Given the description of an element on the screen output the (x, y) to click on. 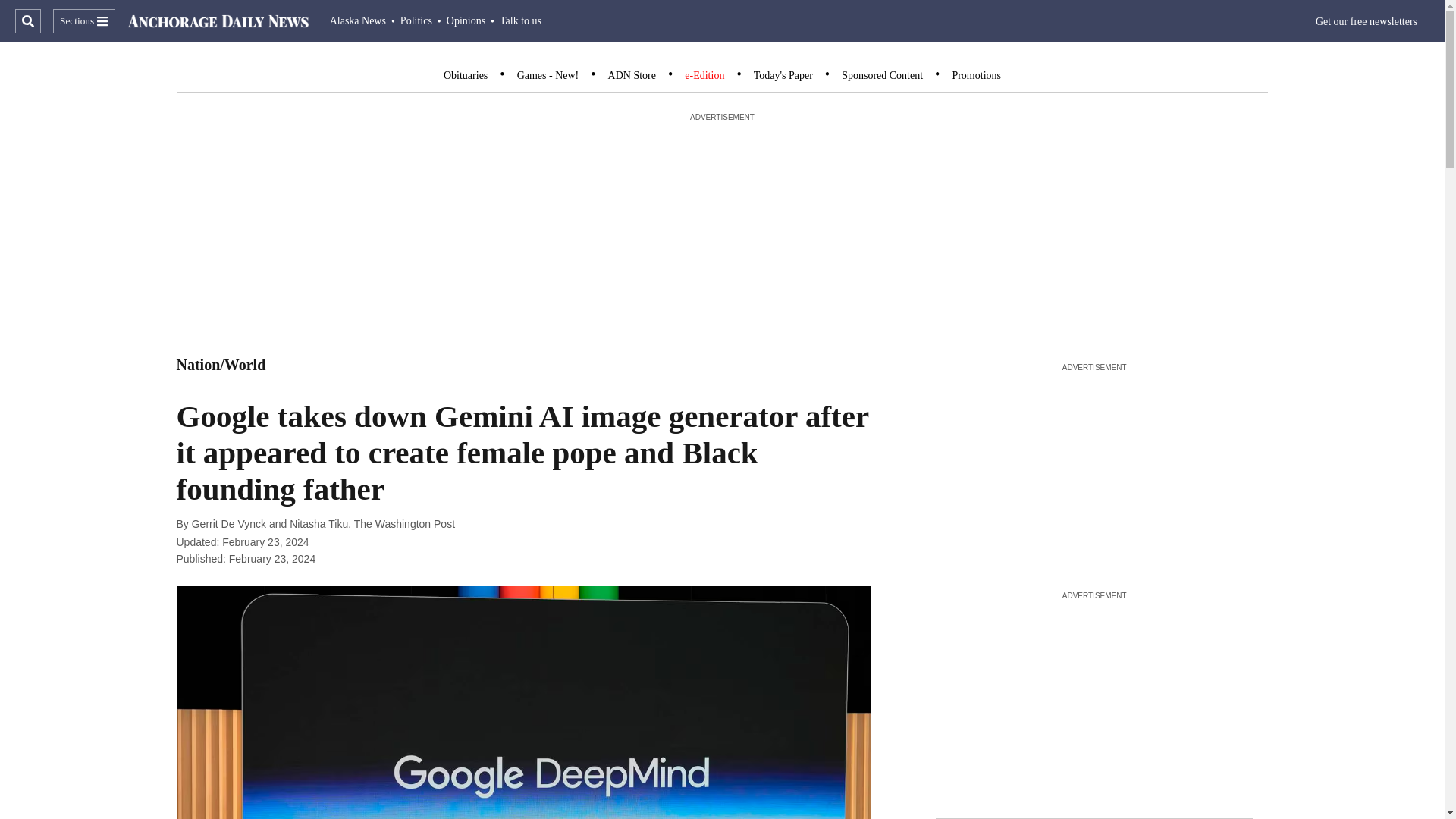
Opinions (465, 20)
Sections (83, 21)
Alaska News (357, 20)
Get our free newsletters (1366, 21)
ADN Logo (218, 20)
Politics (416, 20)
